Given the description of an element on the screen output the (x, y) to click on. 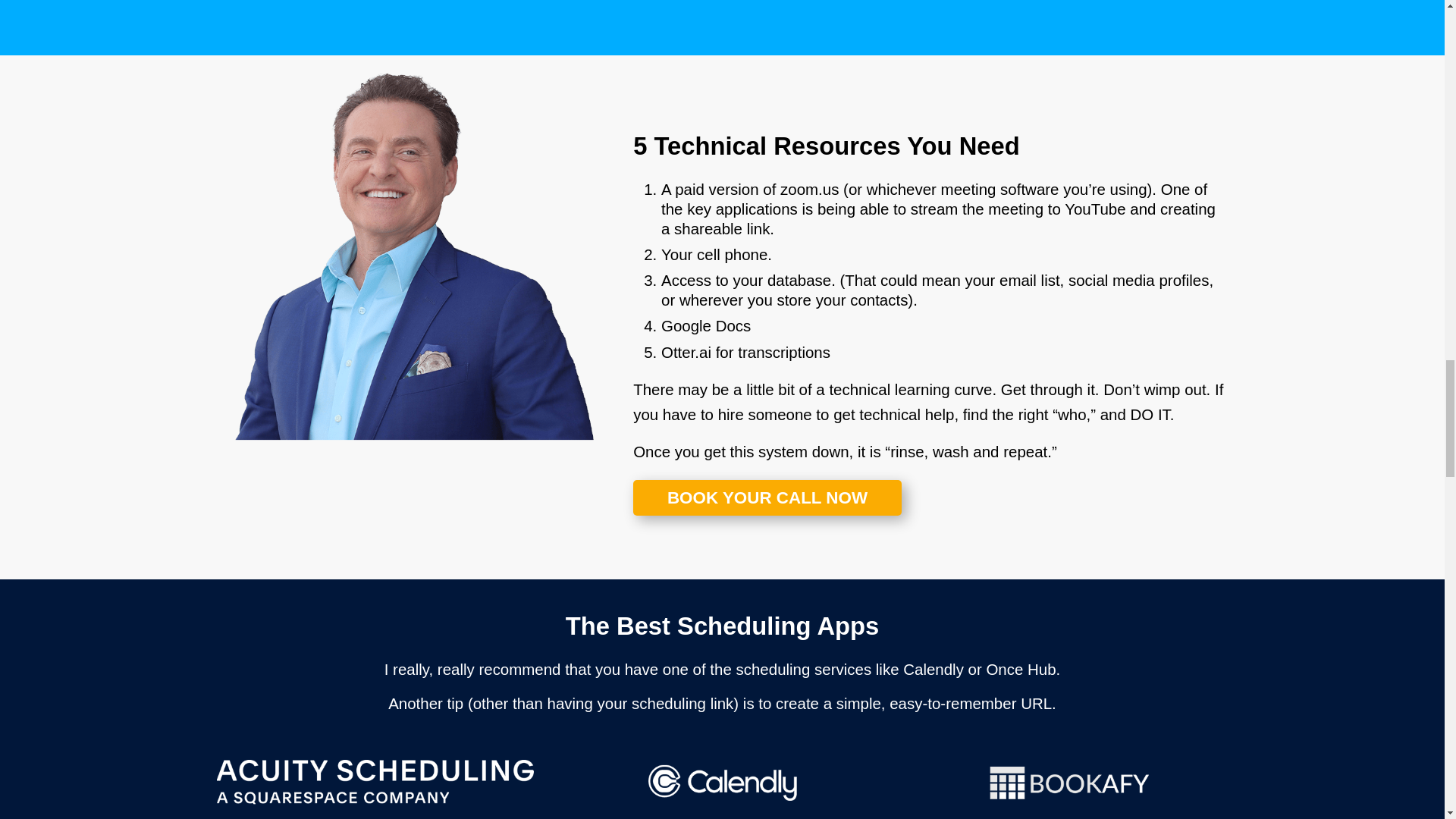
Acuity Scheduling Logo (375, 782)
BOOK YOUR CALL NOW (767, 497)
Calendly Logo (722, 782)
